Given the description of an element on the screen output the (x, y) to click on. 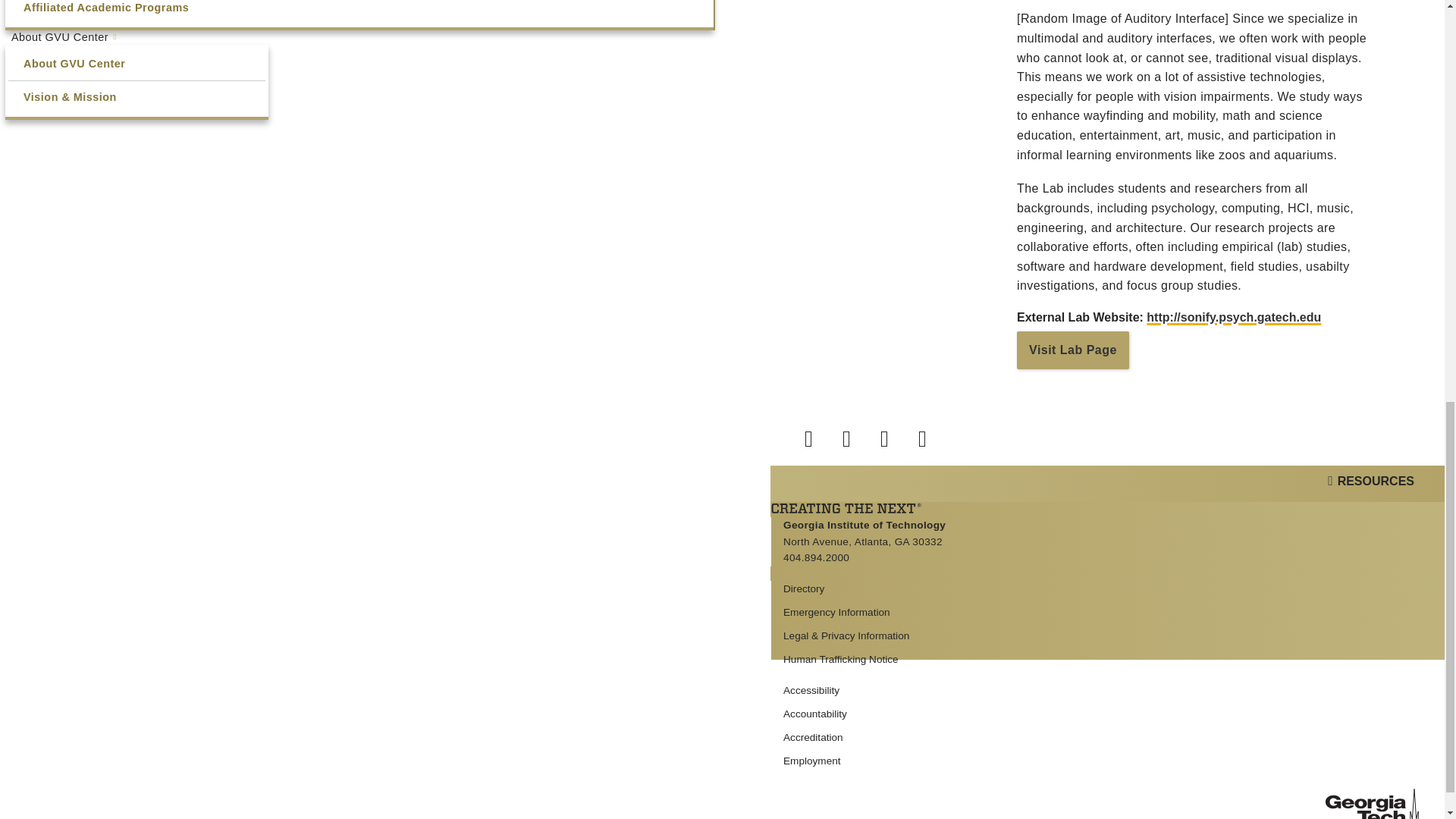
Affiliated Academic Programs (358, 7)
Facebook (819, 435)
About GVU Center (136, 63)
About GVU Center (136, 37)
Twitter (857, 435)
Visit Lab Page (1072, 350)
